Given the description of an element on the screen output the (x, y) to click on. 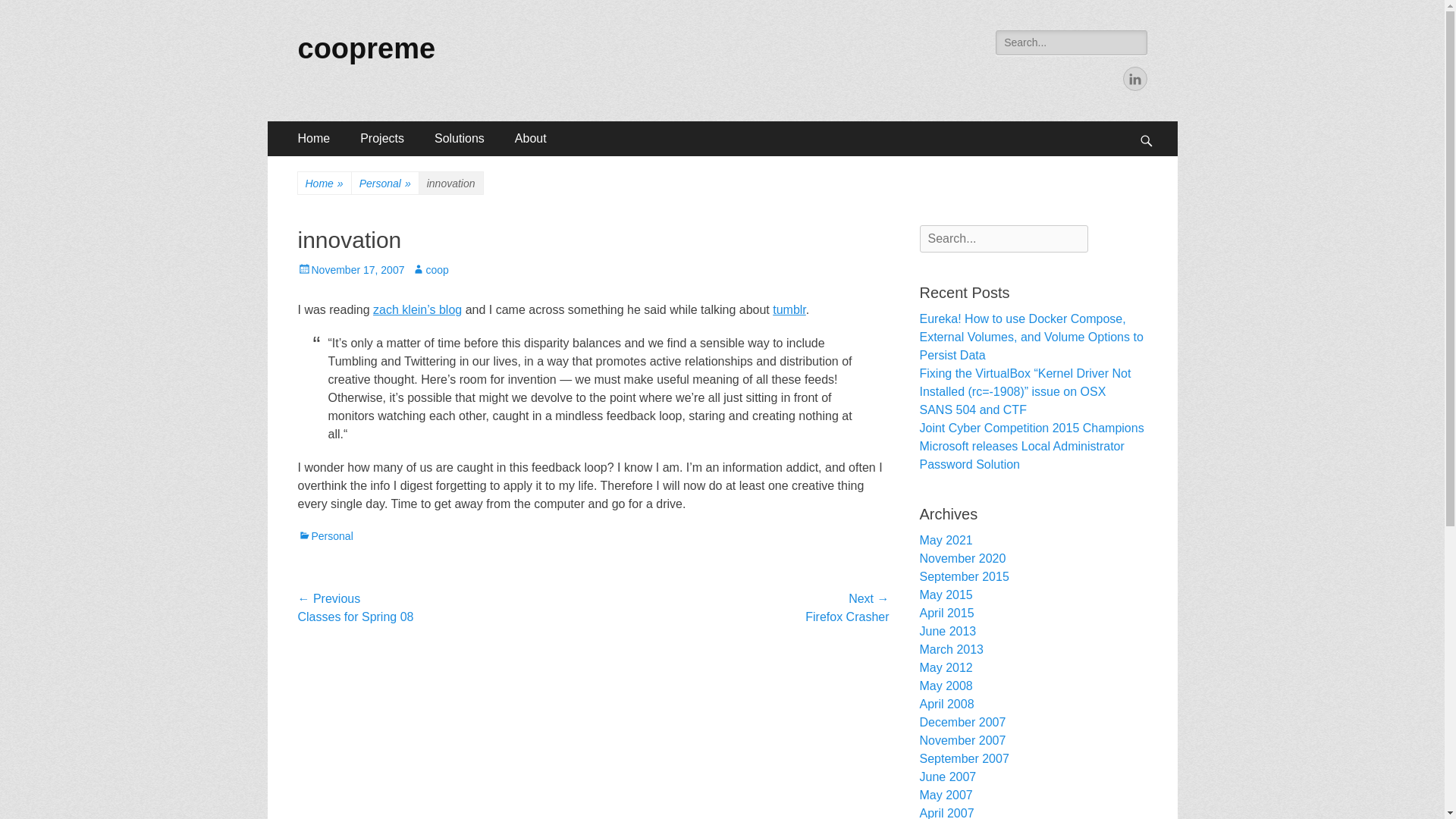
Tumble Log (789, 309)
Projects (382, 138)
November 17, 2007 (350, 269)
May 2015 (945, 594)
September 2007 (963, 758)
December 2007 (962, 721)
May 2021 (945, 540)
tumblr (789, 309)
November 2020 (962, 558)
Zach Klein (416, 309)
LinkedIn (1134, 78)
Solutions (459, 138)
April 2015 (946, 612)
March 2013 (951, 649)
June 2007 (946, 776)
